Given the description of an element on the screen output the (x, y) to click on. 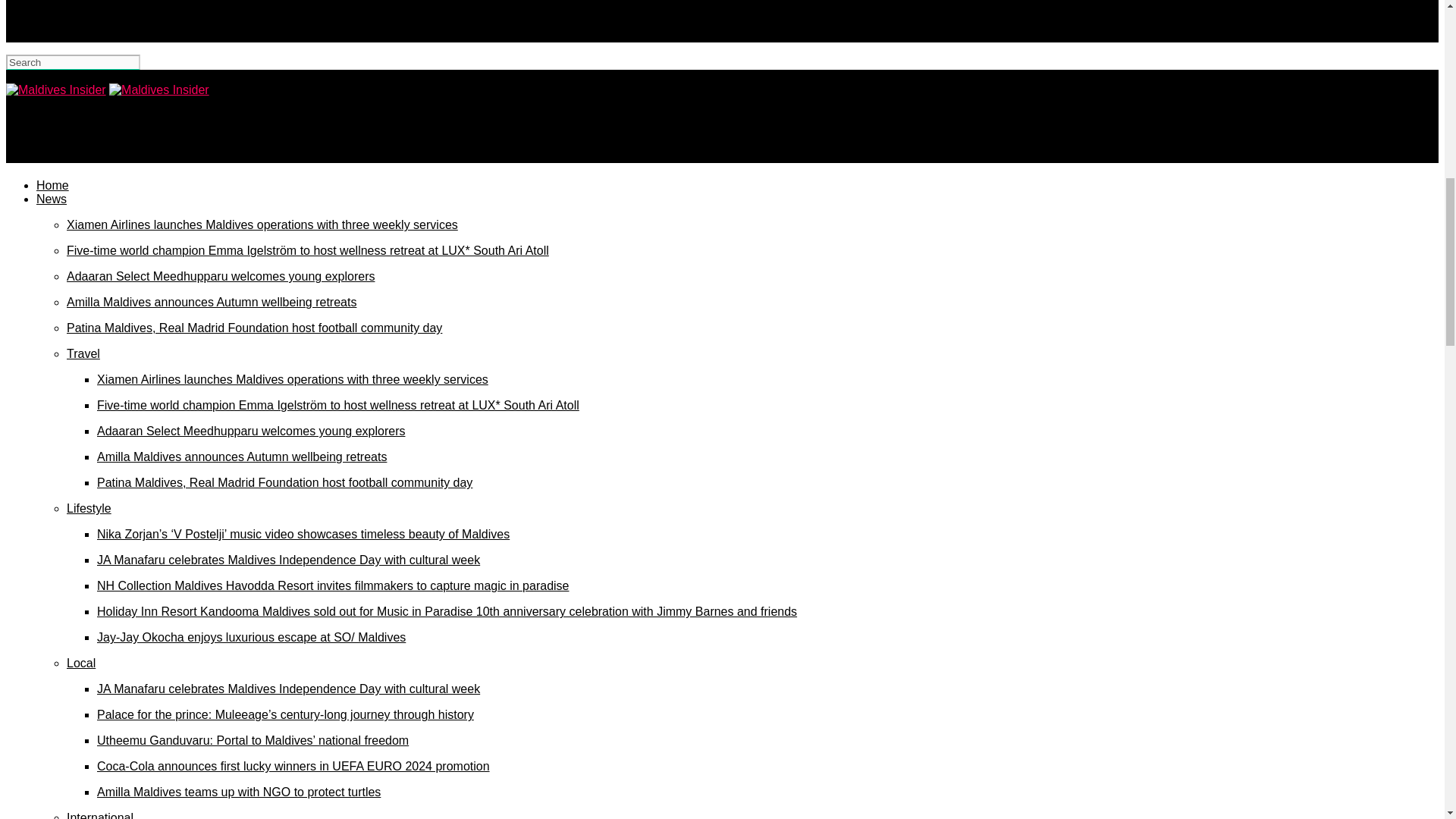
Search (72, 61)
